Given the description of an element on the screen output the (x, y) to click on. 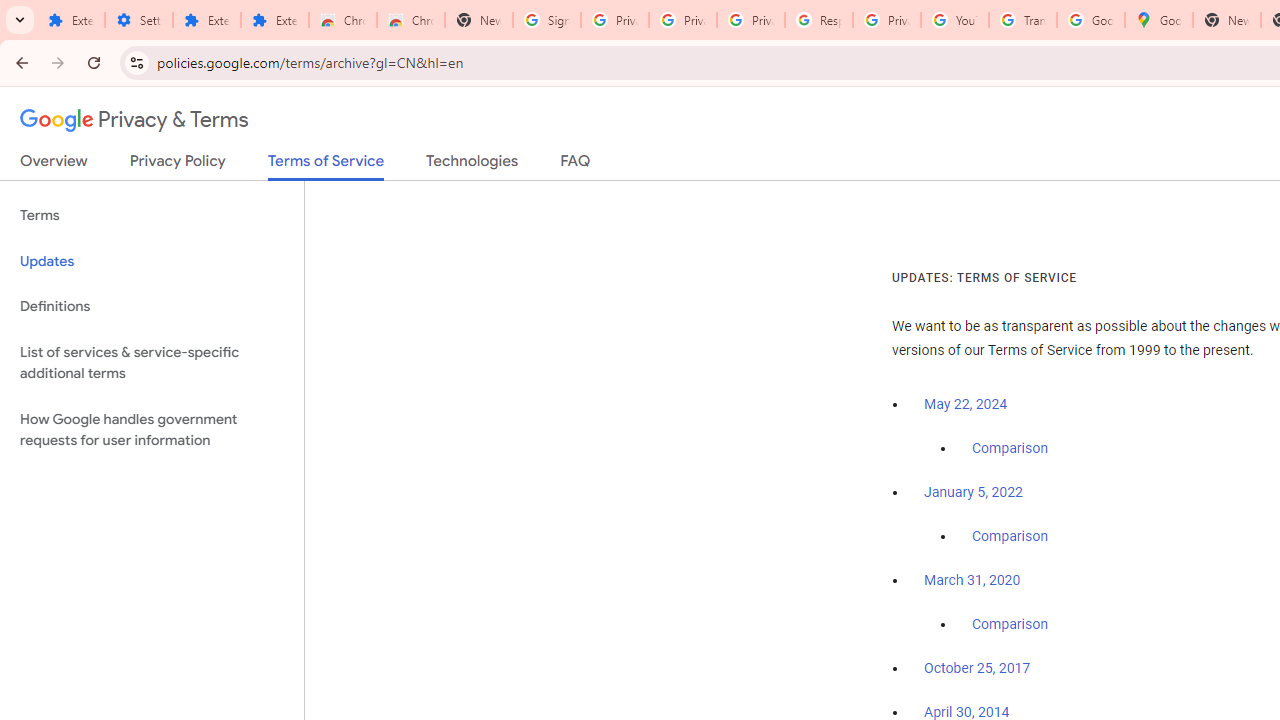
Google Maps (1158, 20)
How Google handles government requests for user information (152, 429)
Extensions (274, 20)
May 22, 2024 (966, 404)
New Tab (1226, 20)
Sign in - Google Accounts (547, 20)
Definitions (152, 306)
YouTube (954, 20)
Extensions (206, 20)
